Given the description of an element on the screen output the (x, y) to click on. 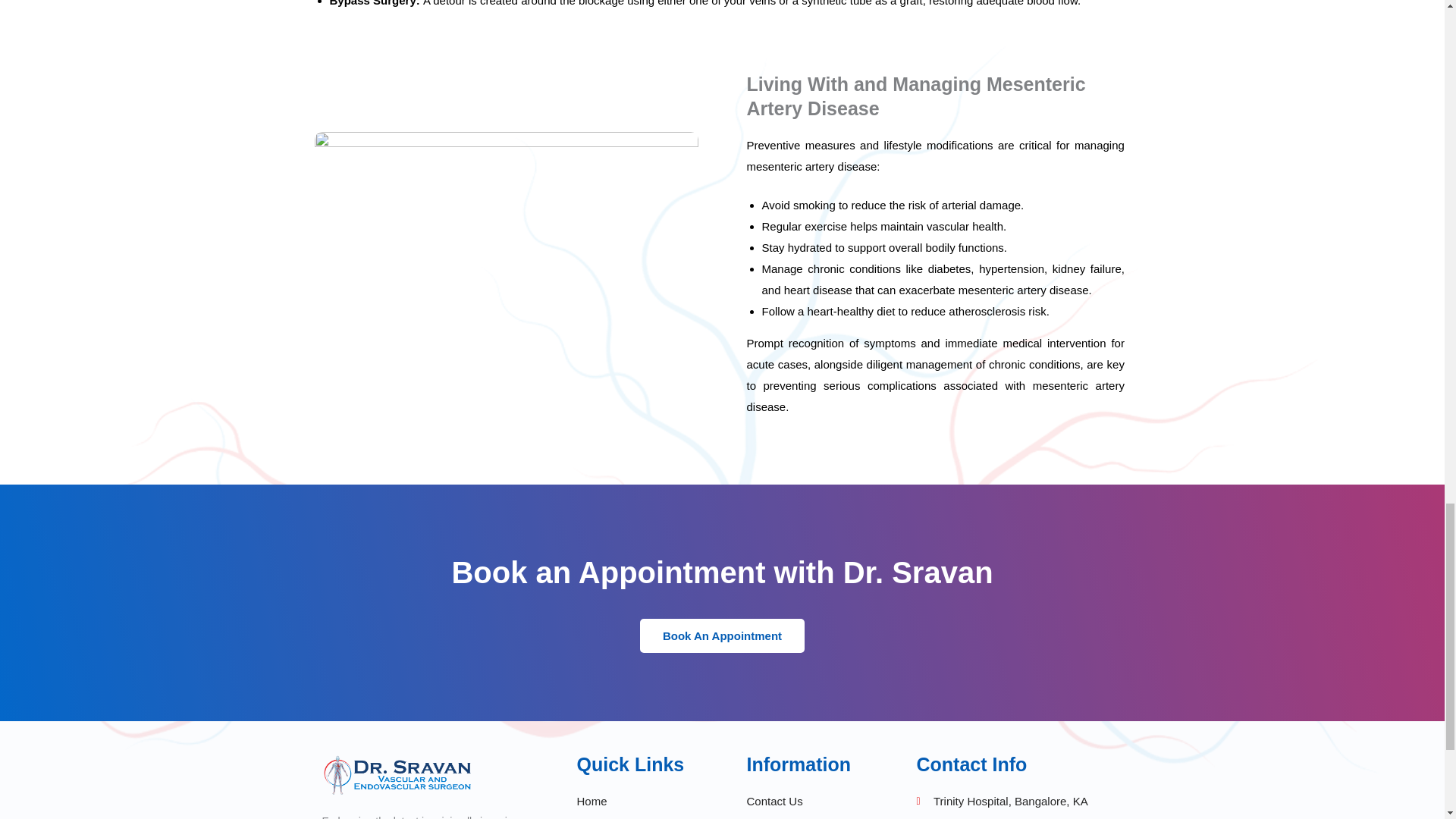
About Us (636, 817)
FAQ (806, 817)
Home (636, 801)
Book An Appointment (722, 635)
Contact Us (806, 801)
